Given the description of an element on the screen output the (x, y) to click on. 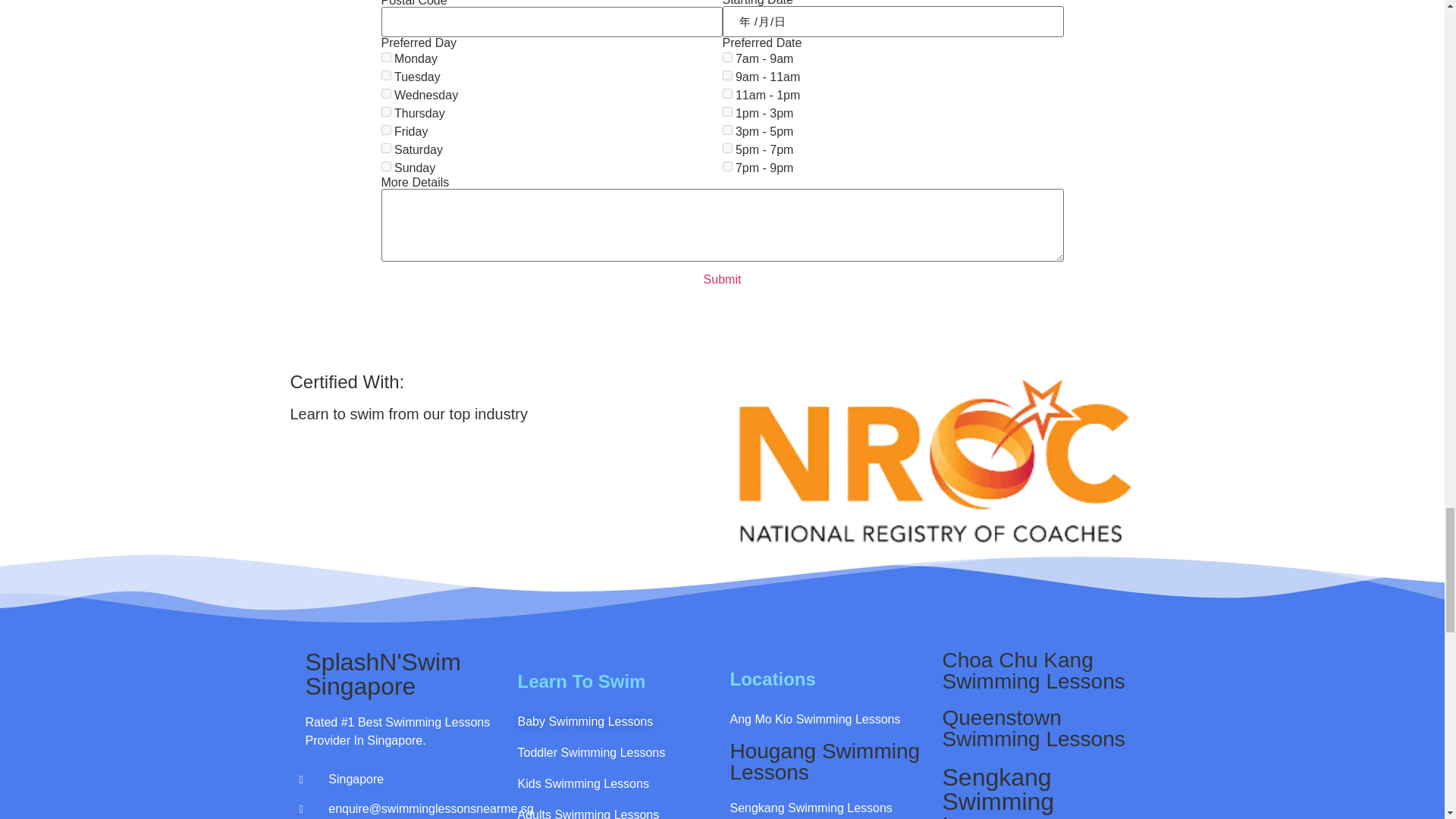
9am - 11am (727, 75)
Hougang Swimming Lessons (824, 761)
5pm - 7pm (727, 148)
Choa Chu Kang Swimming Lessons (1033, 670)
Toddler Swimming Lessons (590, 752)
Monday (385, 57)
Ang Mo Kio Swimming Lessons (814, 718)
11am - 1pm (727, 93)
7pm - 9pm (727, 166)
Tuesday (385, 75)
